Given the description of an element on the screen output the (x, y) to click on. 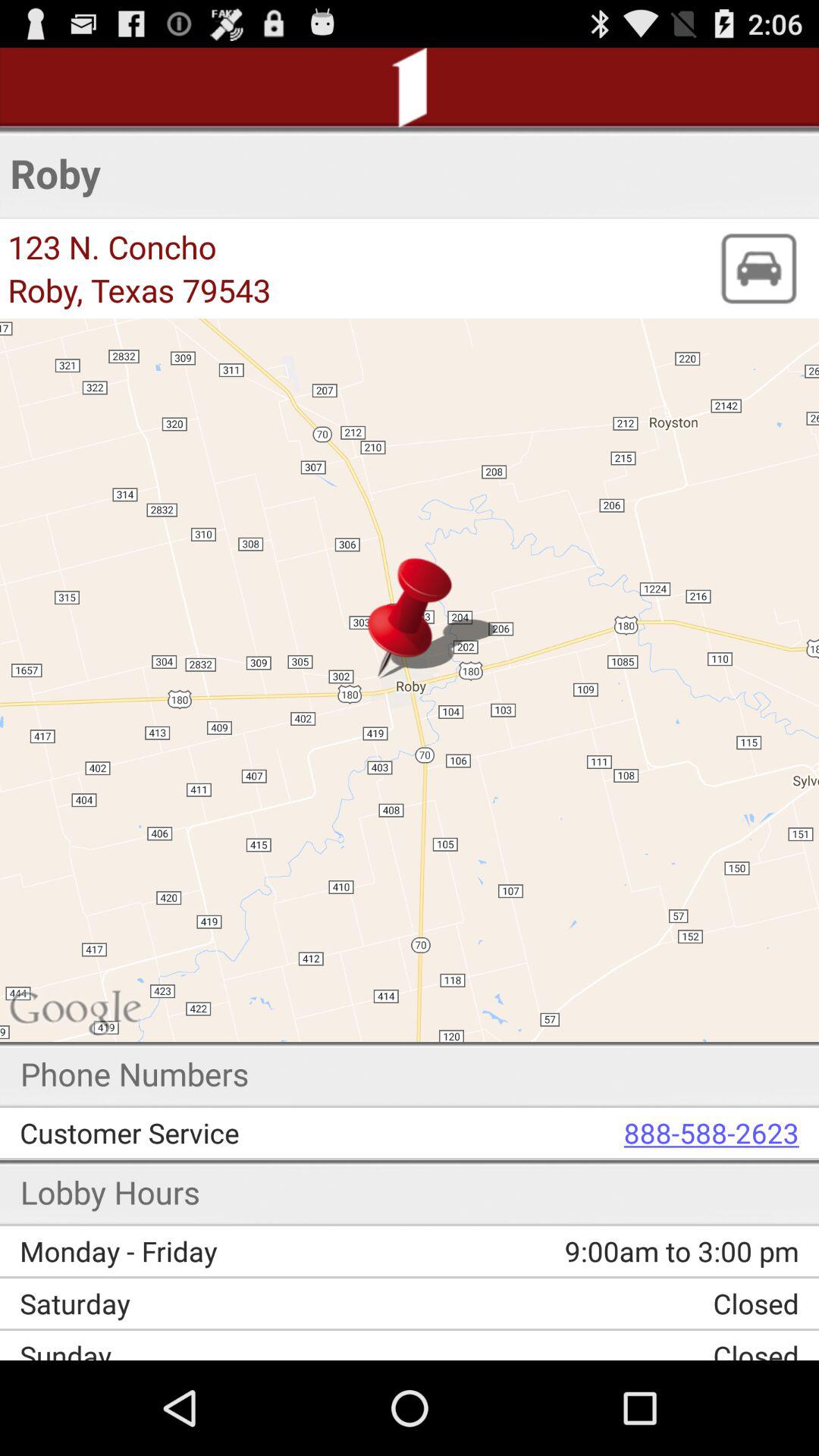
driving directions (757, 268)
